Given the description of an element on the screen output the (x, y) to click on. 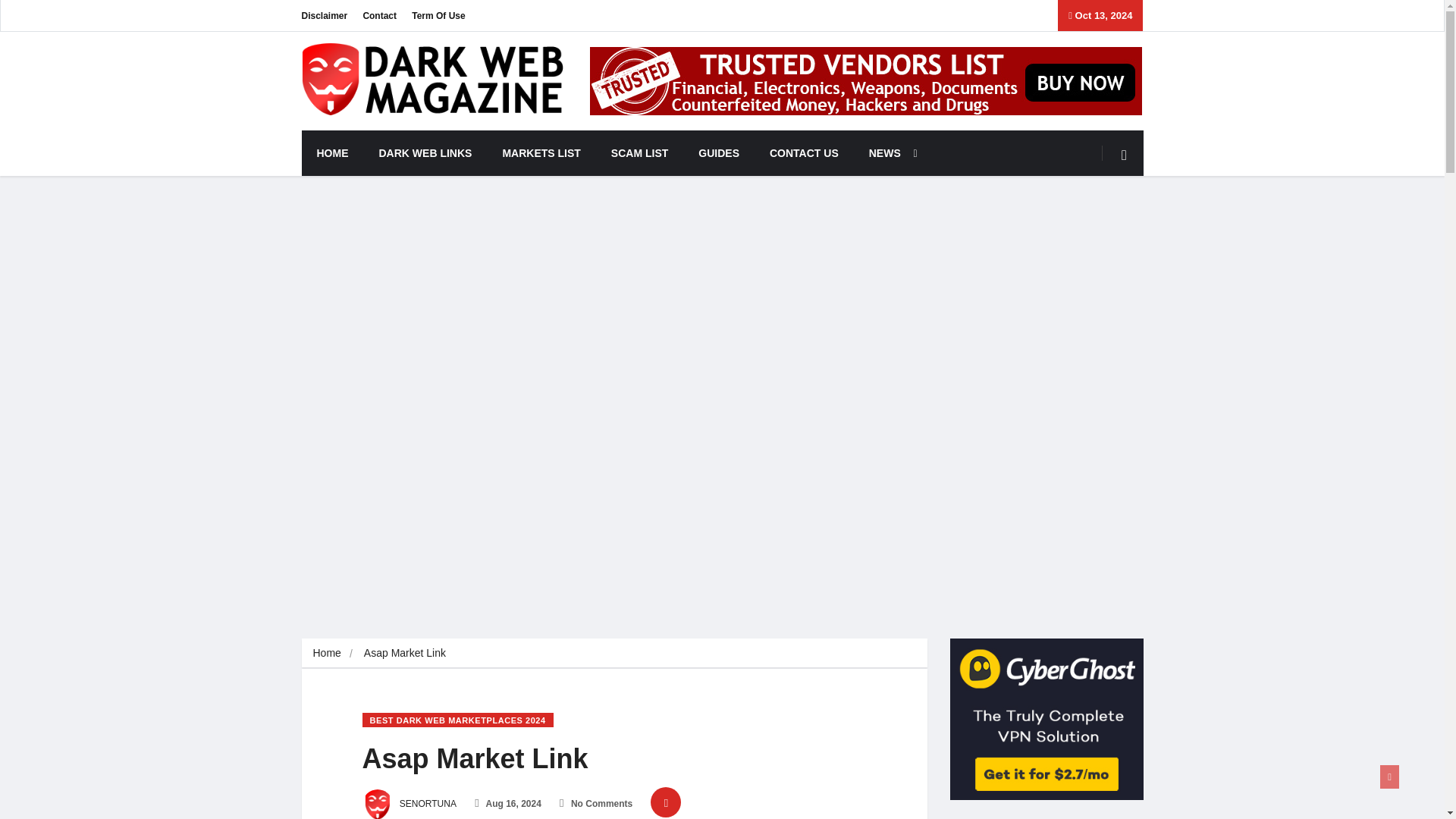
SENORTUNA (409, 803)
GUIDES (718, 153)
HOME (332, 153)
Home (326, 653)
NEWS (888, 153)
MARKETS LIST (540, 153)
Contact (379, 15)
SCAM LIST (638, 153)
BEST DARK WEB MARKETPLACES 2024 (457, 719)
Term Of Use (438, 15)
CONTACT US (803, 153)
DARK WEB LINKS (425, 153)
Disclaimer (324, 15)
